Given the description of an element on the screen output the (x, y) to click on. 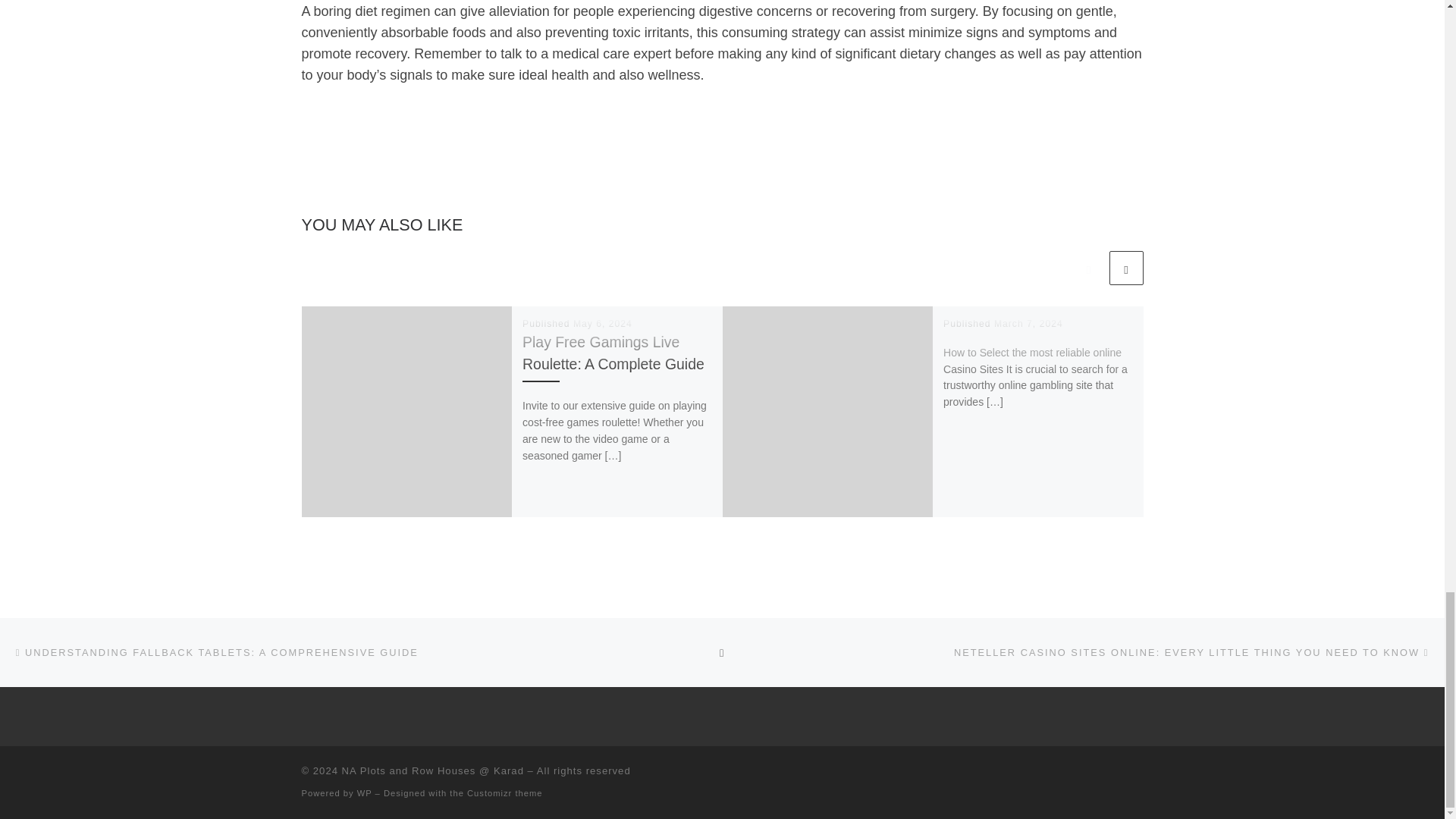
Previous related articles (1088, 267)
May 6, 2024 (602, 323)
Play Free Gamings Live Roulette: A Complete Guide (613, 352)
March 7, 2024 (1028, 323)
Powered by WordPress (364, 792)
Next related articles (1125, 267)
Customizr theme (505, 792)
